Given the description of an element on the screen output the (x, y) to click on. 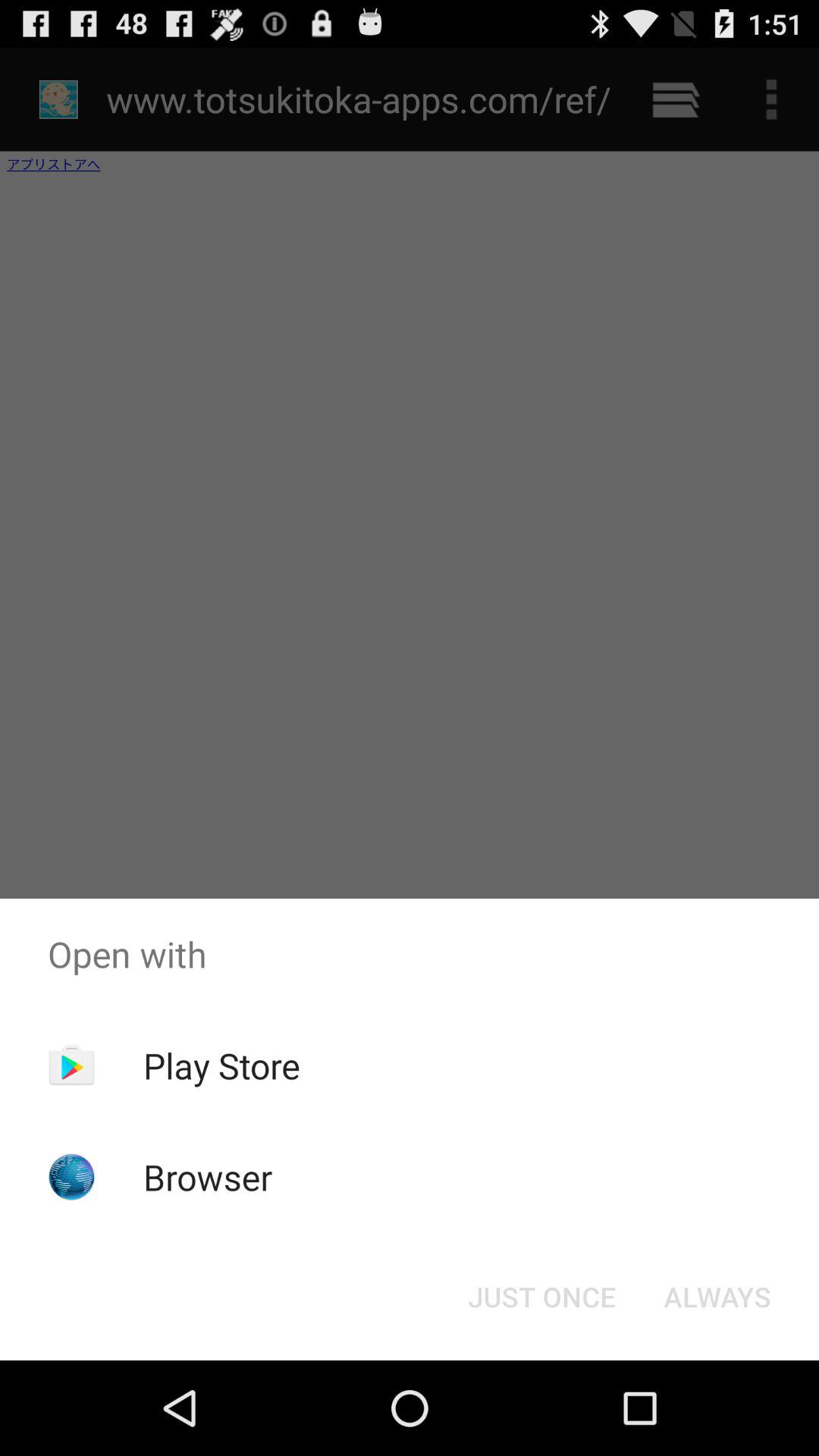
turn off the icon below the play store item (207, 1176)
